Given the description of an element on the screen output the (x, y) to click on. 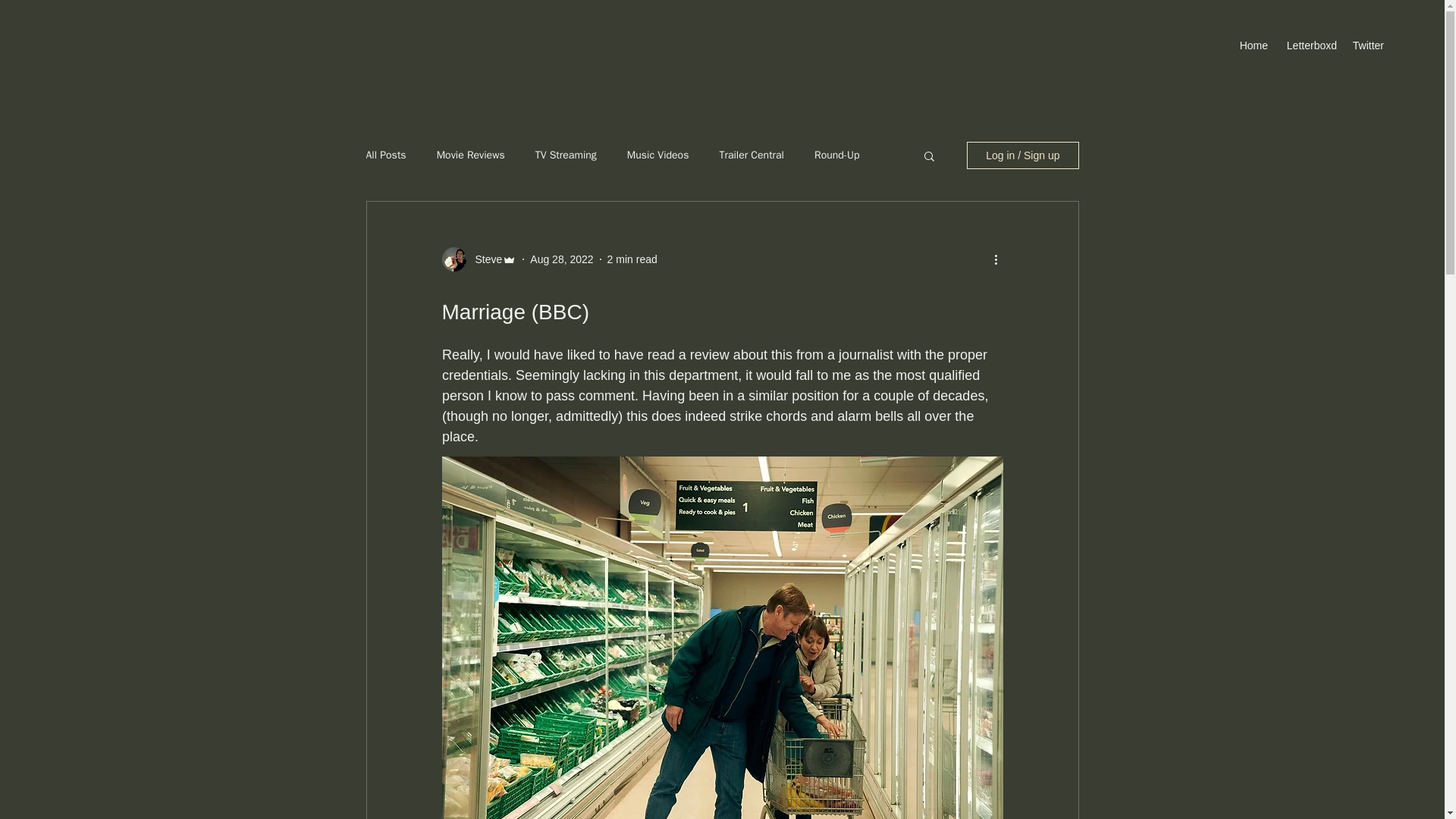
Music Videos (657, 155)
Steve (483, 259)
Trailer Central (751, 155)
Round-Up (836, 155)
All Posts (385, 155)
Twitter (1367, 45)
Aug 28, 2022 (560, 259)
2 min read (632, 259)
Movie Reviews (470, 155)
Home (1253, 45)
TV Streaming (565, 155)
Letterboxd (1309, 45)
